Given the description of an element on the screen output the (x, y) to click on. 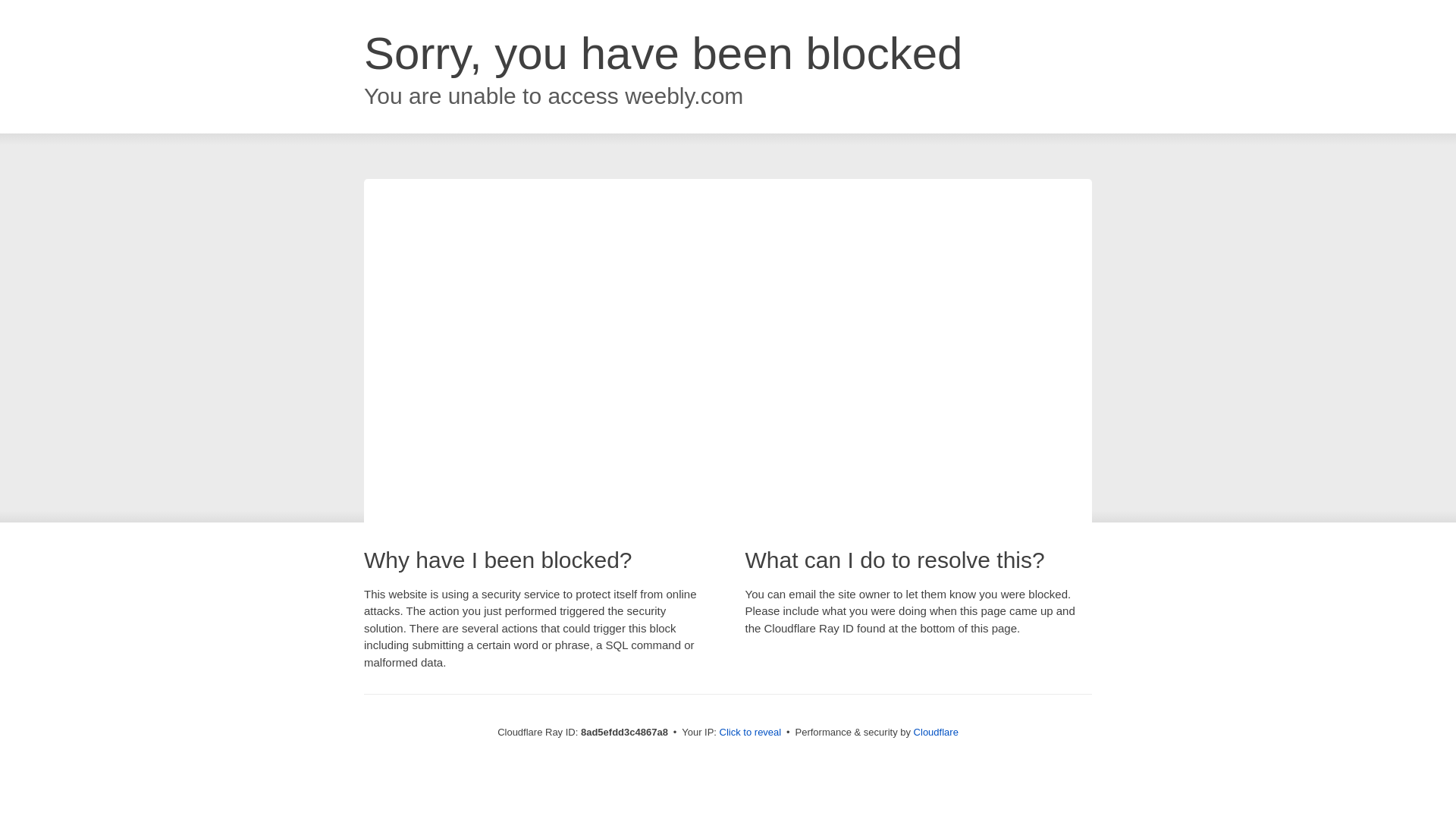
Click to reveal (750, 732)
Cloudflare (936, 731)
